Given the description of an element on the screen output the (x, y) to click on. 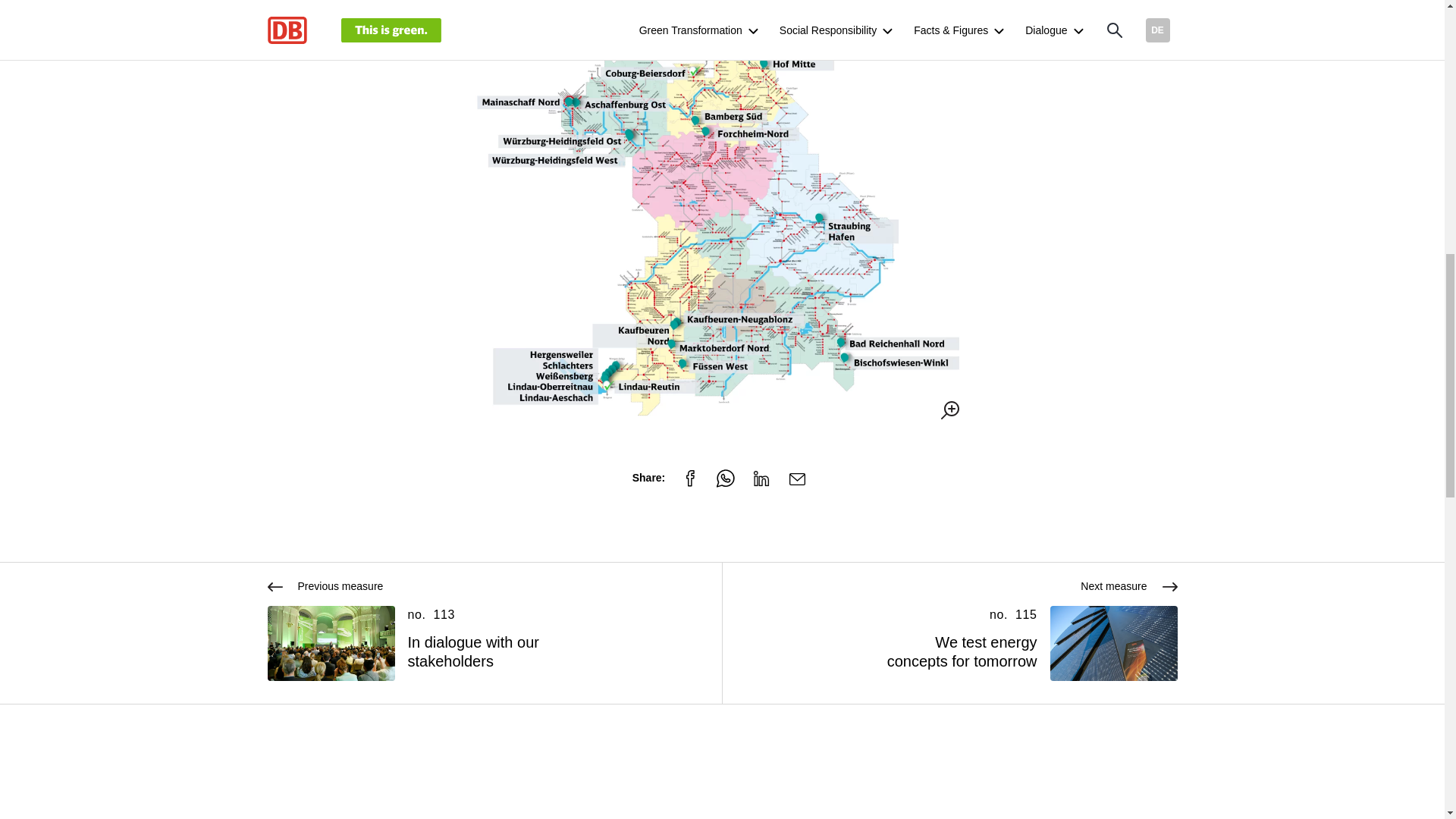
WhatsApp (725, 478)
LinkedIn (760, 478)
E-Mail (796, 478)
Facebook (689, 478)
